Given the description of an element on the screen output the (x, y) to click on. 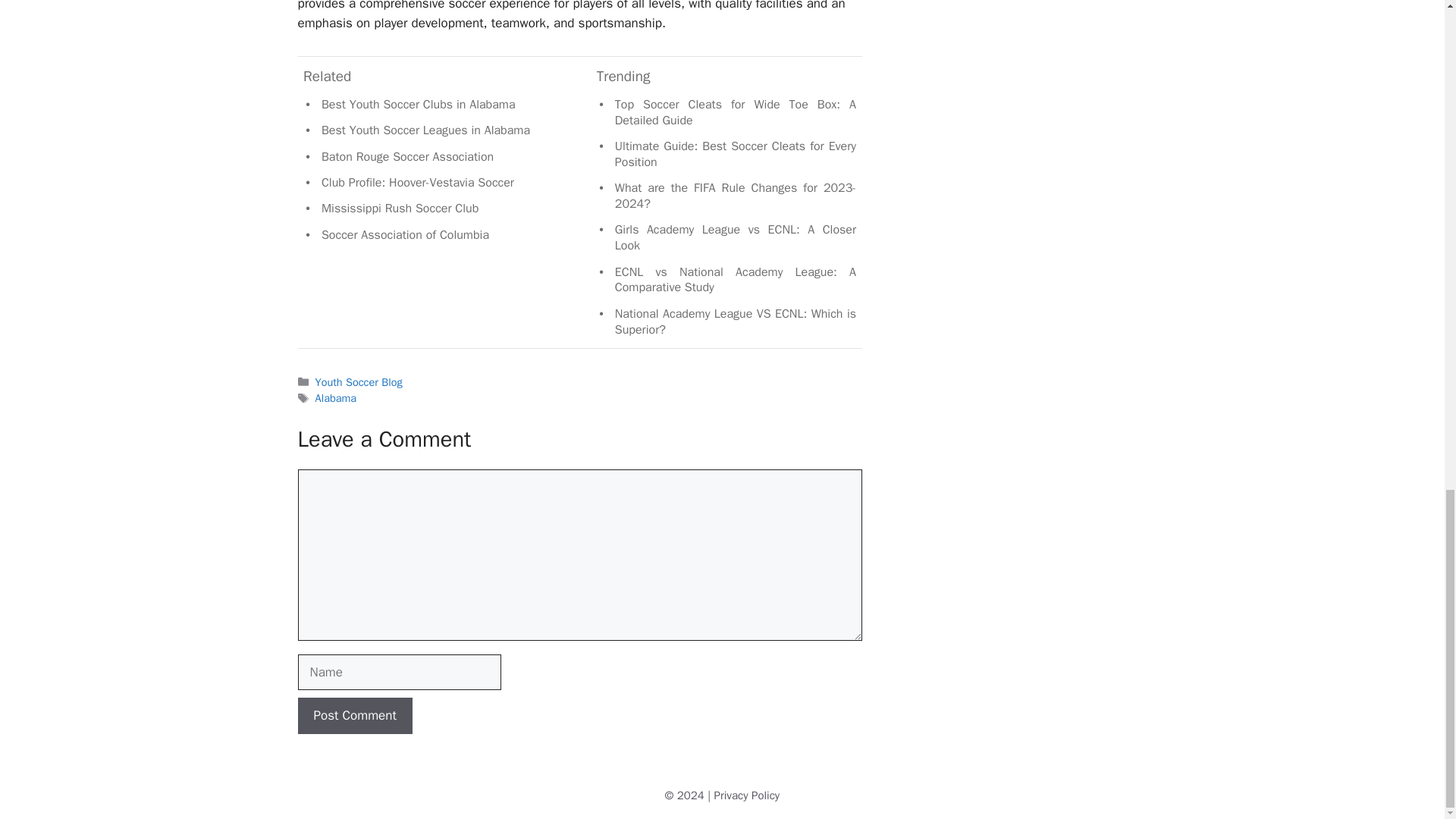
Youth Soccer Blog (359, 382)
Club Profile: Hoover-Vestavia Soccer (417, 182)
National Academy League VS ECNL: Which is Superior? (735, 321)
Baton Rouge Soccer Association (407, 156)
Soccer Association of Columbia (405, 234)
What are the FIFA Rule Changes for 2023-2024? (735, 195)
Mississippi Rush Soccer Club (400, 208)
National Academy League VS ECNL: Which is Superior? (735, 321)
Post Comment (354, 715)
Post Comment (354, 715)
Best Youth Soccer Leagues in Alabama (425, 130)
What are the FIFA Rule Changes for 2023-2024? (735, 195)
Mississippi Rush Soccer Club (400, 208)
Top Soccer Cleats for Wide Toe Box: A Detailed Guide (735, 112)
Baton Rouge Soccer Association (407, 156)
